Given the description of an element on the screen output the (x, y) to click on. 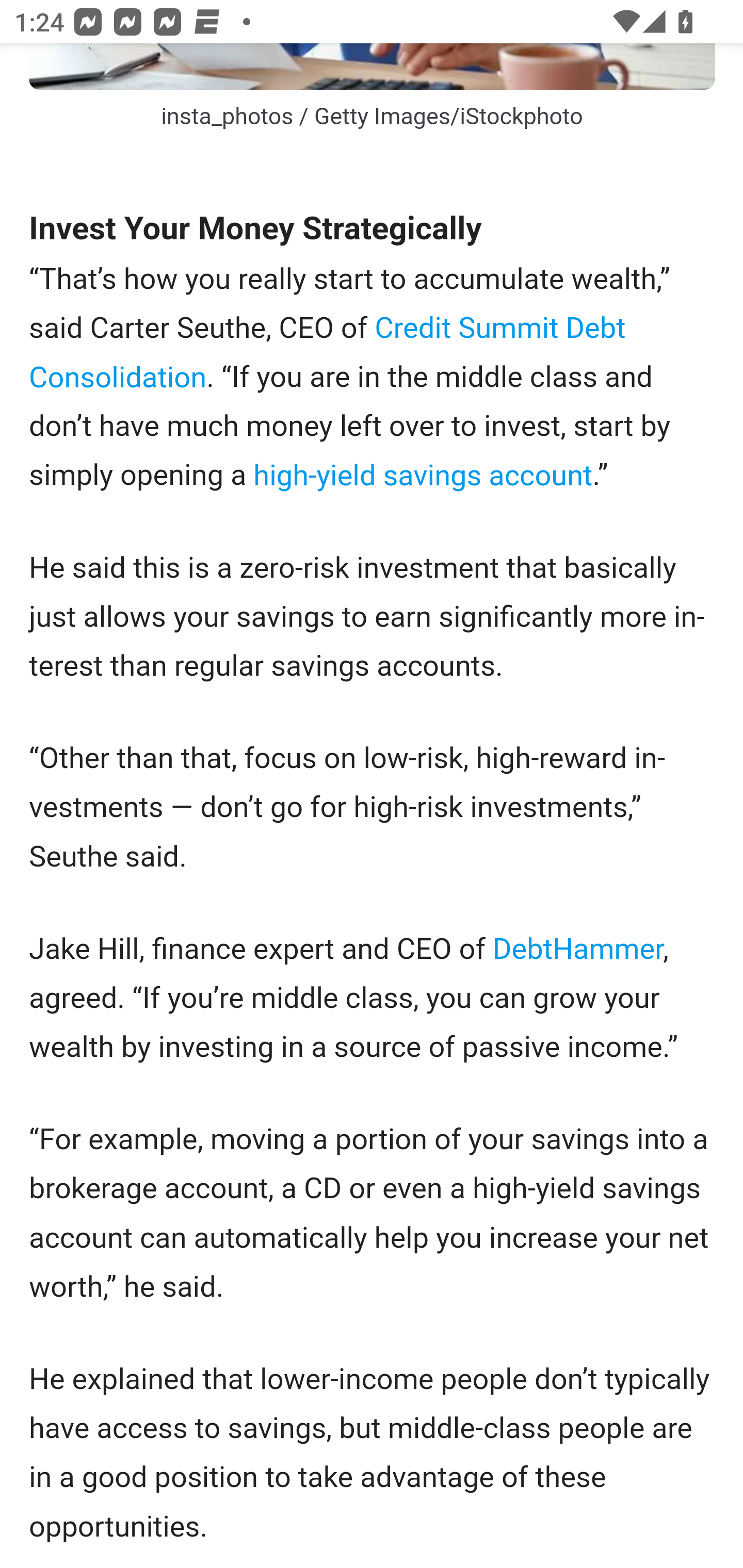
Credit Summit Debt Consolidation (327, 353)
high-yield savings account (422, 476)
DebtHammer (577, 948)
